Given the description of an element on the screen output the (x, y) to click on. 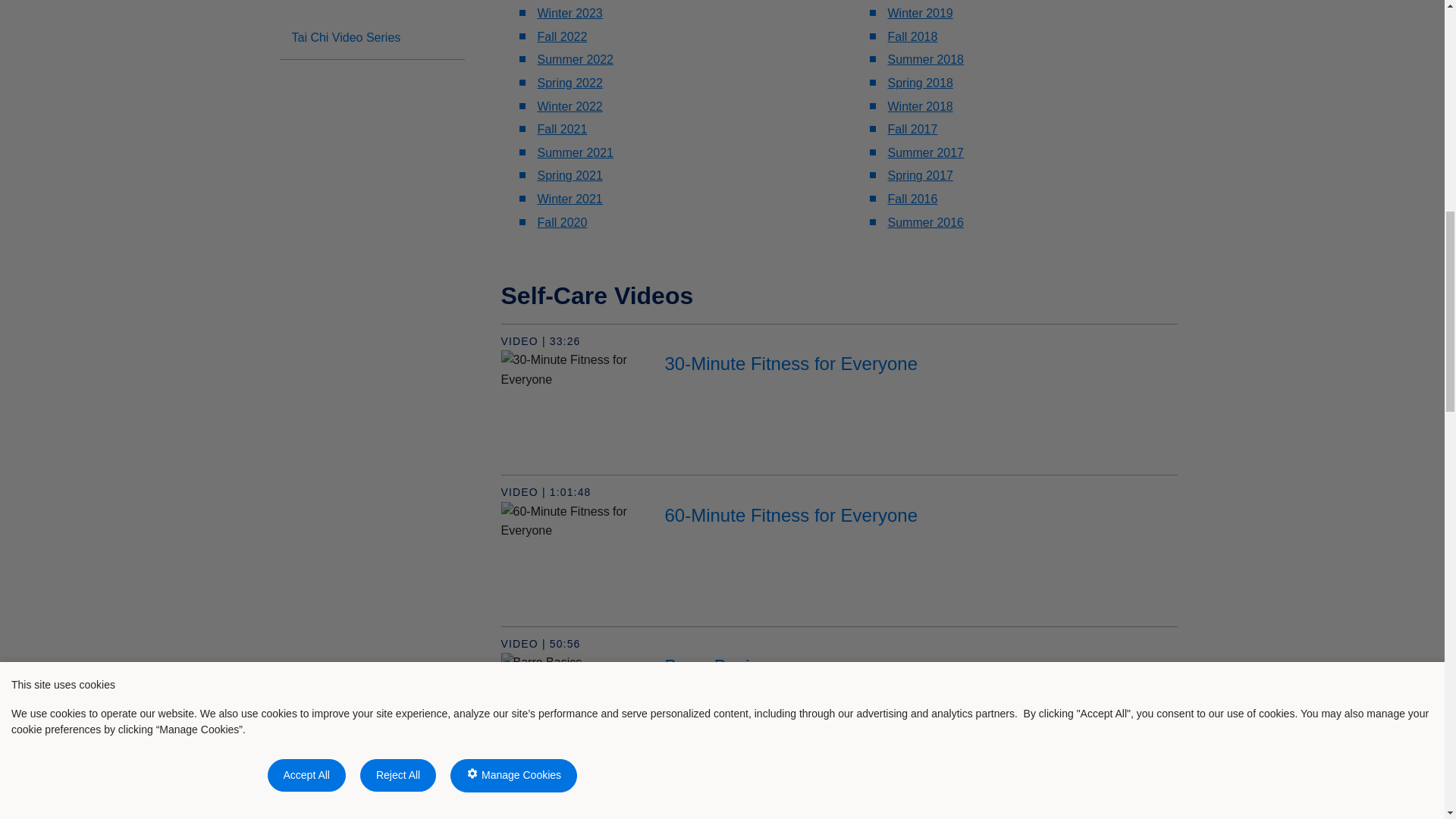
Winter 2019 (919, 12)
Winter 2021 (569, 198)
Summer 2021 (574, 152)
Summer 2022 (574, 59)
Spring 2021 (569, 174)
